Given the description of an element on the screen output the (x, y) to click on. 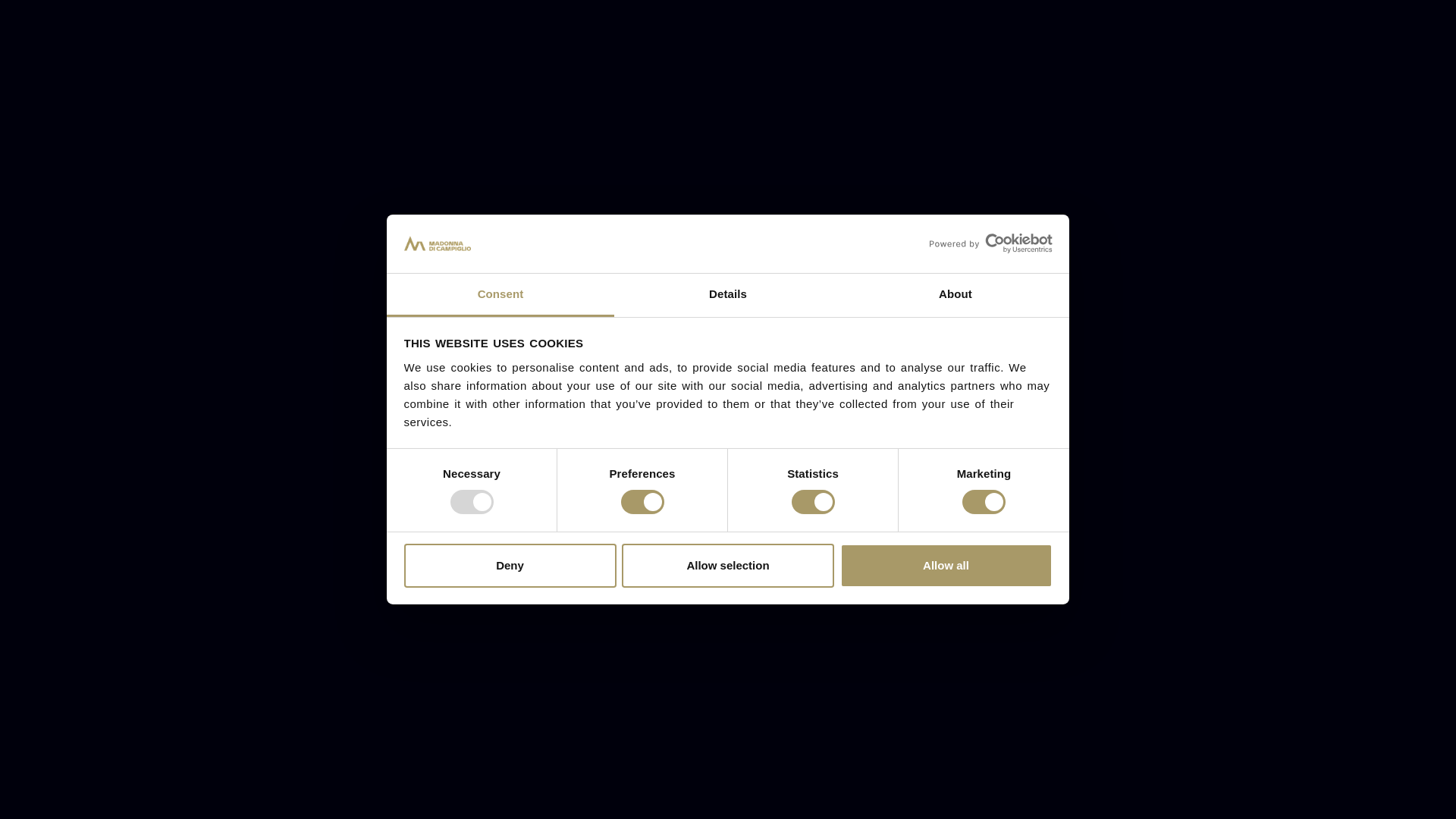
Details (727, 294)
About (954, 294)
Consent (500, 294)
